Given the description of an element on the screen output the (x, y) to click on. 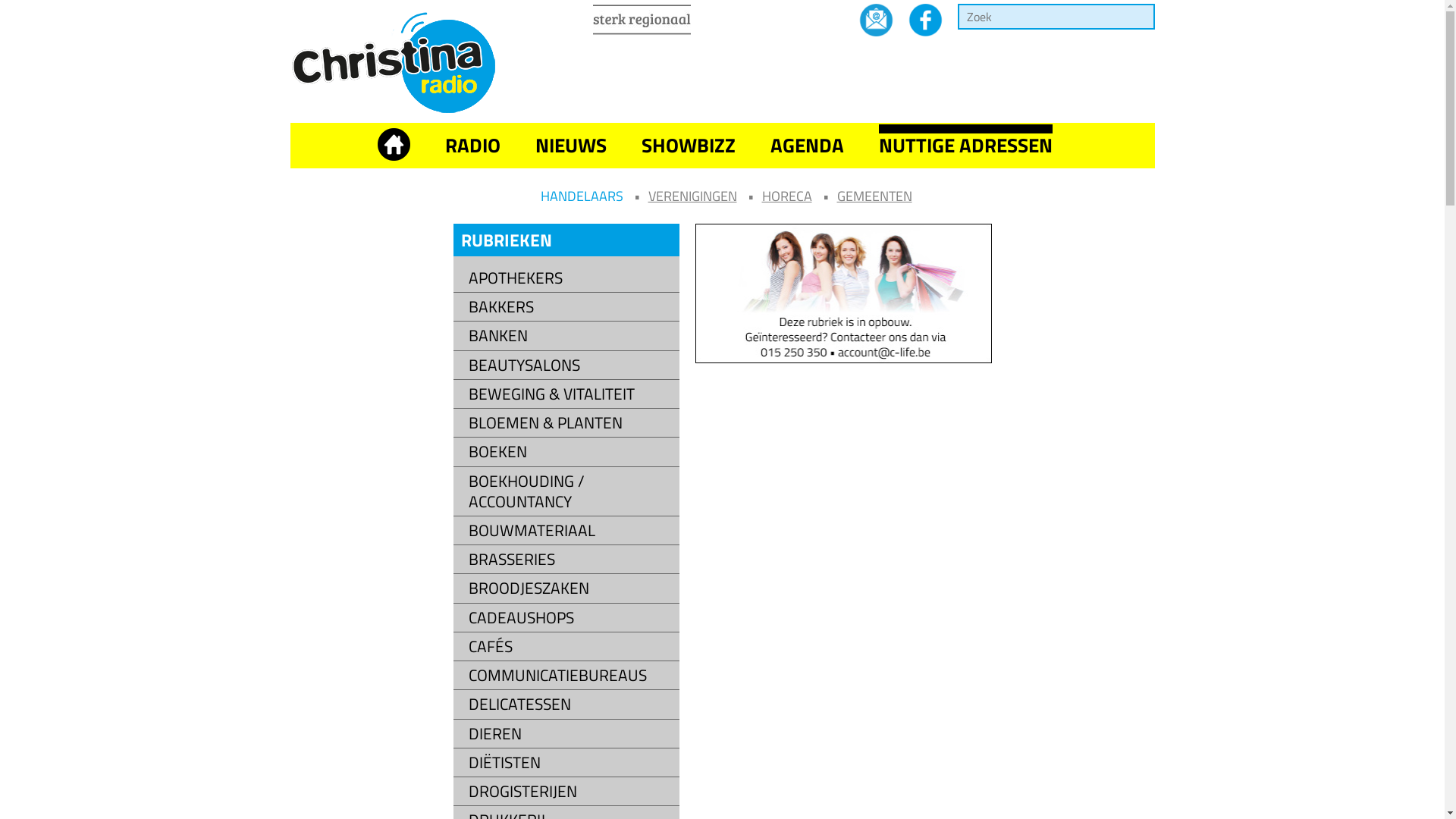
HANDELAARS Element type: text (580, 195)
BOUWMATERIAAL Element type: text (570, 530)
DIEREN Element type: text (570, 733)
HORECA Element type: text (786, 195)
DELICATESSEN Element type: text (570, 703)
NUTTIGE ADRESSEN Element type: text (964, 145)
BANKEN Element type: text (570, 335)
APOTHEKERS Element type: text (570, 277)
NIEUWS Element type: text (570, 145)
BOEKHOUDING / ACCOUNTANCY Element type: text (570, 490)
GEMEENTEN Element type: text (874, 195)
BEAUTYSALONS Element type: text (570, 364)
BLOEMEN & PLANTEN Element type: text (570, 422)
SHOWBIZZ Element type: text (688, 145)
BAKKERS Element type: text (570, 306)
BEWEGING & VITALITEIT Element type: text (570, 393)
CADEAUSHOPS Element type: text (570, 617)
RADIO Element type: text (471, 145)
AGENDA Element type: text (807, 145)
VERENIGINGEN Element type: text (691, 195)
BROODJESZAKEN Element type: text (570, 587)
DROGISTERIJEN Element type: text (570, 791)
BOEKEN Element type: text (570, 451)
BRASSERIES Element type: text (570, 559)
COMMUNICATIEBUREAUS Element type: text (570, 675)
